Given the description of an element on the screen output the (x, y) to click on. 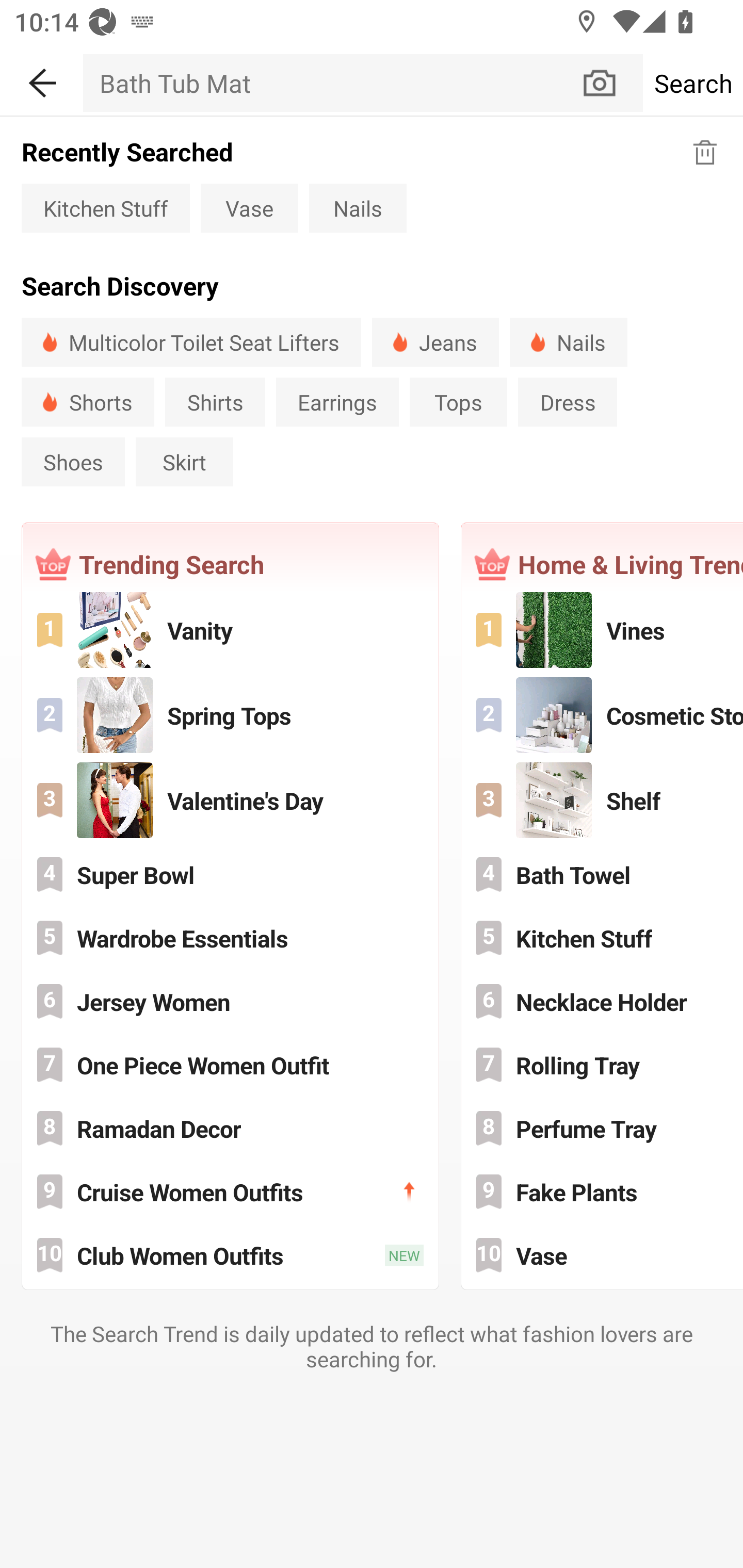
BACK (41, 79)
Bath Tub Mat (331, 82)
Search (692, 82)
Kitchen Stuff (105, 207)
Vase (248, 207)
Nails (357, 207)
Multicolor Toilet Seat Lifters (191, 342)
Jeans (435, 342)
Nails (568, 342)
Shorts (87, 401)
Shirts (214, 401)
Earrings (337, 401)
Tops (458, 401)
Dress (567, 401)
Shoes (72, 461)
Skirt (184, 461)
Vanity 1 Vanity (230, 629)
Vines 1 Vines (602, 629)
Spring Tops 2 Spring Tops (230, 714)
Cosmetic Storage 2 Cosmetic Storage (602, 714)
Valentine's Day 3 Valentine's Day (230, 800)
Shelf 3 Shelf (602, 800)
Super Bowl 4 Super Bowl (230, 873)
Bath Towel 4 Bath Towel (602, 873)
Wardrobe Essentials 5 Wardrobe Essentials (230, 937)
Kitchen Stuff 5 Kitchen Stuff (602, 937)
Jersey Women 6 Jersey Women (230, 1000)
Necklace Holder 6 Necklace Holder (602, 1000)
One Piece Women Outfit 7 One Piece Women Outfit (230, 1064)
Rolling Tray 7 Rolling Tray (602, 1064)
Ramadan Decor 8 Ramadan Decor (230, 1127)
Perfume Tray 8 Perfume Tray (602, 1127)
Cruise Women Outfits 9 Cruise Women Outfits (230, 1191)
Fake Plants 9 Fake Plants (602, 1191)
Club Women Outfits 10 Club Women Outfits NEW (230, 1254)
Vase 10 Vase (602, 1254)
